Given the description of an element on the screen output the (x, y) to click on. 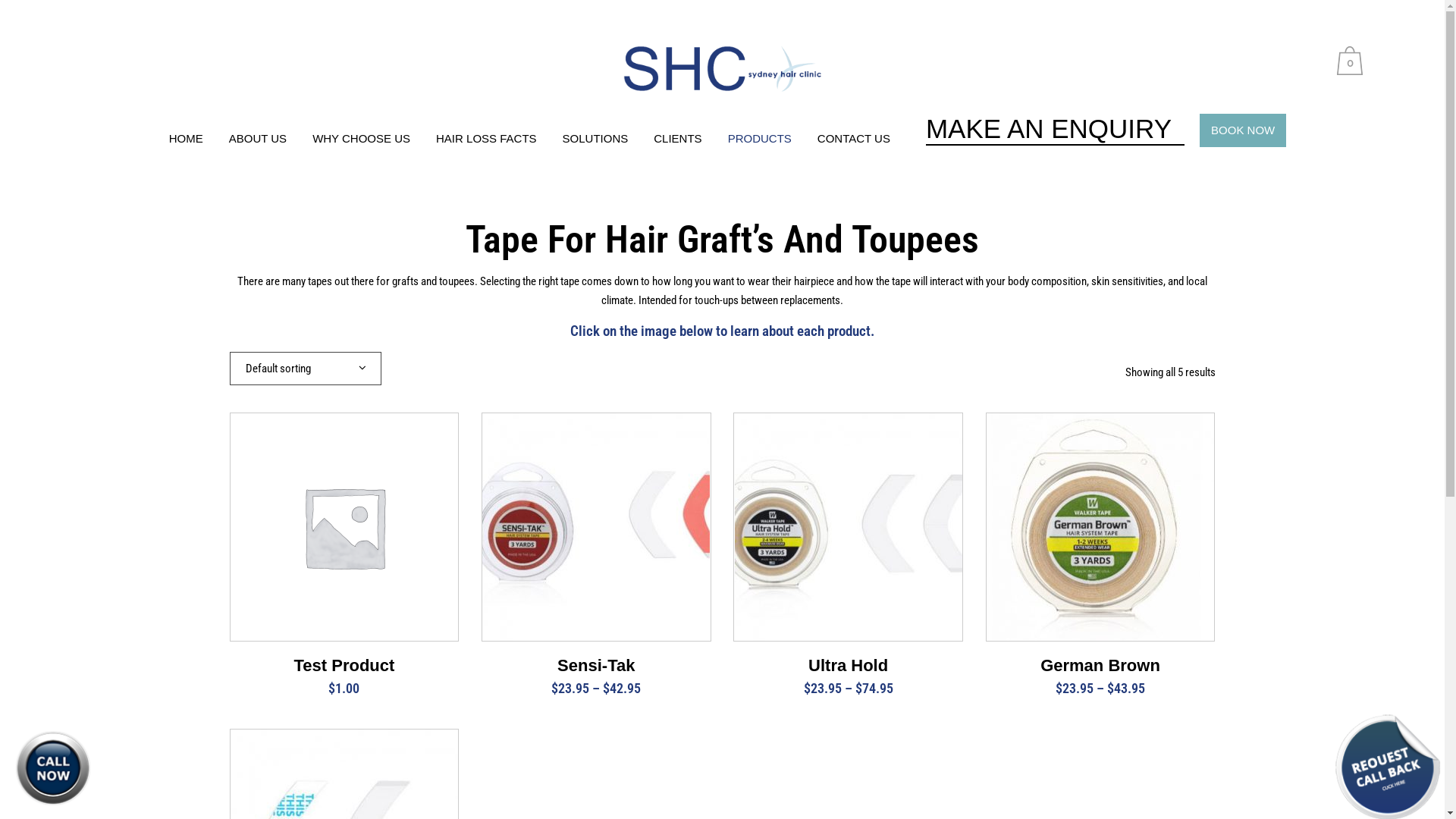
ABOUT US Element type: text (257, 138)
BOOK NOW Element type: text (1242, 130)
CONTACT US Element type: text (853, 138)
Test Product
$1.00 Element type: text (343, 669)
WHY CHOOSE US Element type: text (361, 138)
MAKE AN ENQUIRY Element type: text (1054, 129)
PRODUCTS Element type: text (759, 138)
HAIR LOSS FACTS Element type: text (486, 138)
CLIENTS Element type: text (677, 138)
HOME Element type: text (186, 138)
SOLUTIONS Element type: text (595, 138)
0 Element type: text (1352, 60)
